Given the description of an element on the screen output the (x, y) to click on. 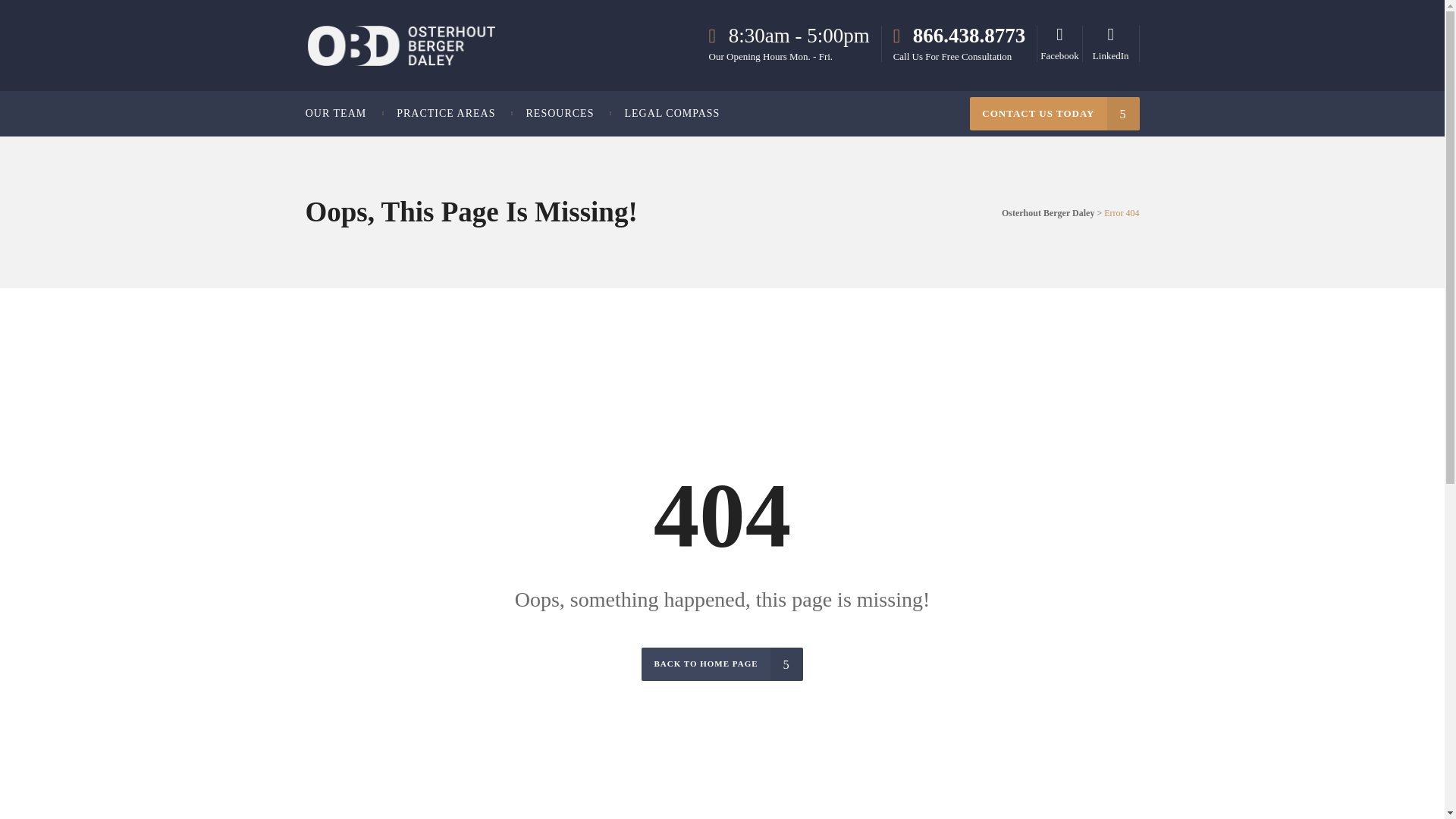
PRACTICE AREAS (446, 113)
CONTACT US TODAY (1053, 113)
RESOURCES (560, 113)
OUR TEAM (343, 113)
866.438.8773 (959, 36)
LEGAL COMPASS (671, 113)
